Given the description of an element on the screen output the (x, y) to click on. 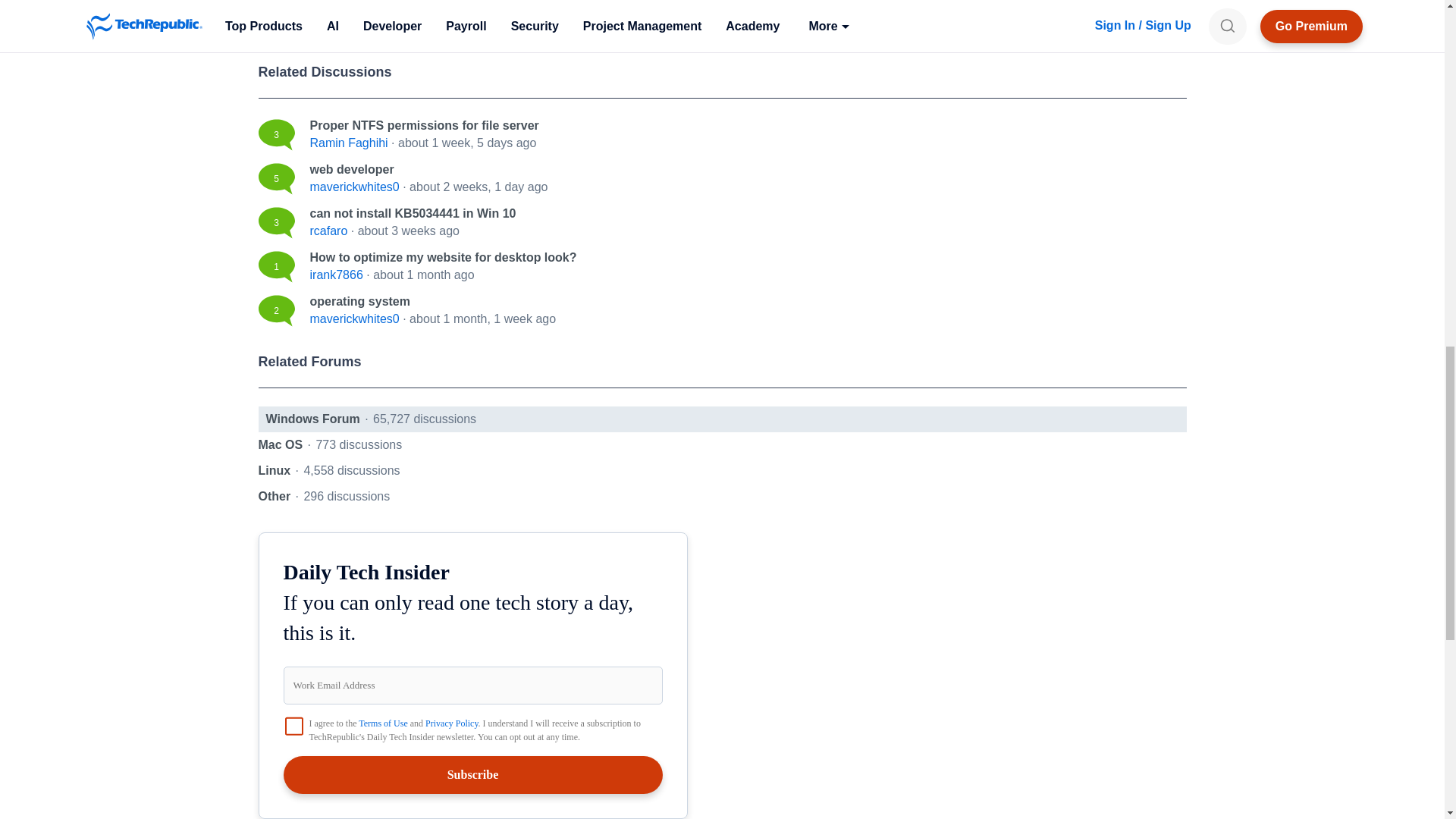
View maverickwhites0's profile (353, 318)
View Ramin Faghihi's profile (347, 142)
on (293, 726)
View maverickwhites0's profile (353, 186)
View irank7866's profile (335, 274)
View rcafaro's profile (327, 230)
